Given the description of an element on the screen output the (x, y) to click on. 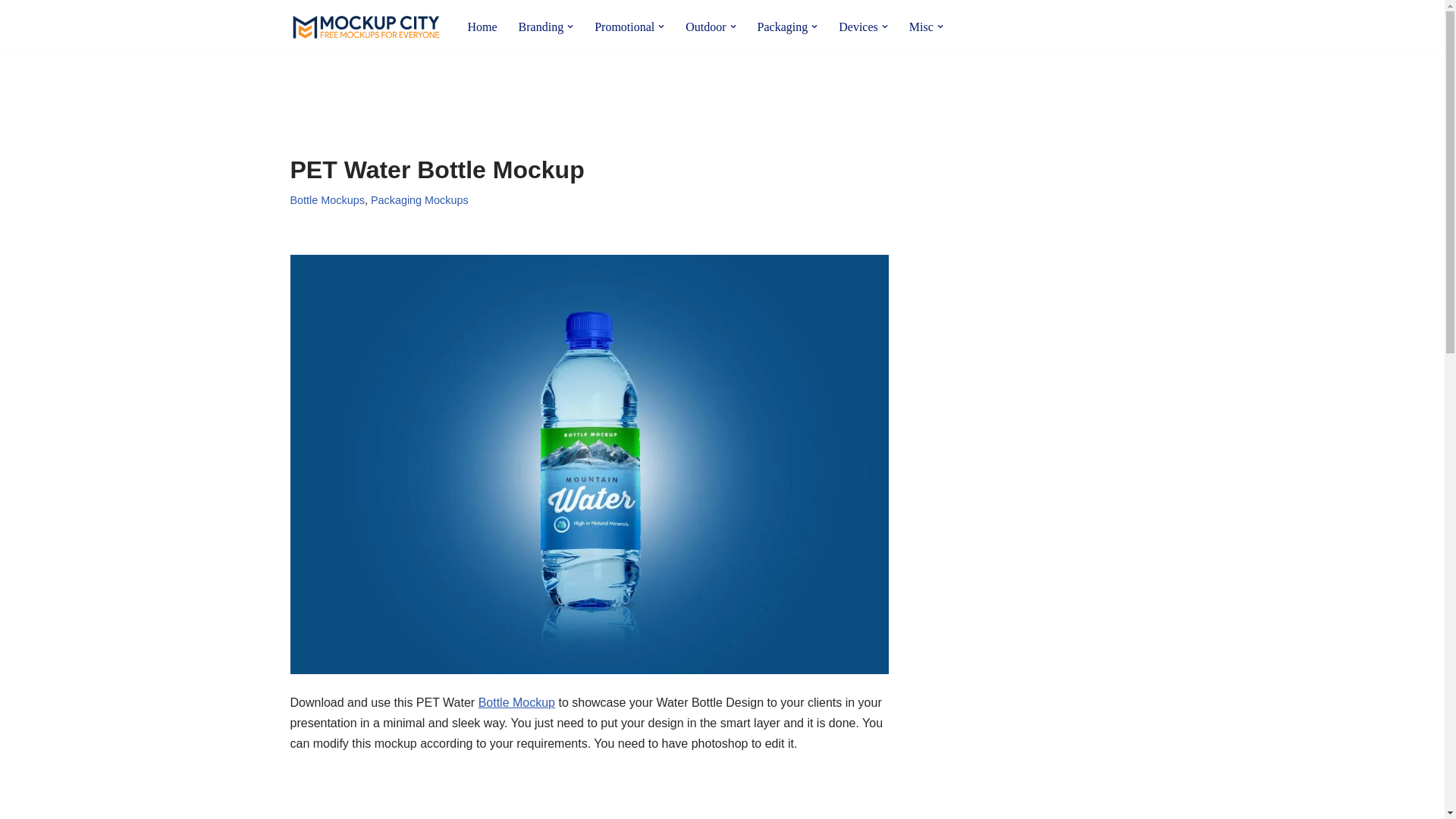
Advertisement (565, 93)
Outdoor (705, 26)
Devices (857, 26)
Branding (541, 26)
Advertisement (588, 797)
Promotional (623, 26)
Skip to content (11, 31)
Home (481, 26)
Packaging (782, 26)
